Given the description of an element on the screen output the (x, y) to click on. 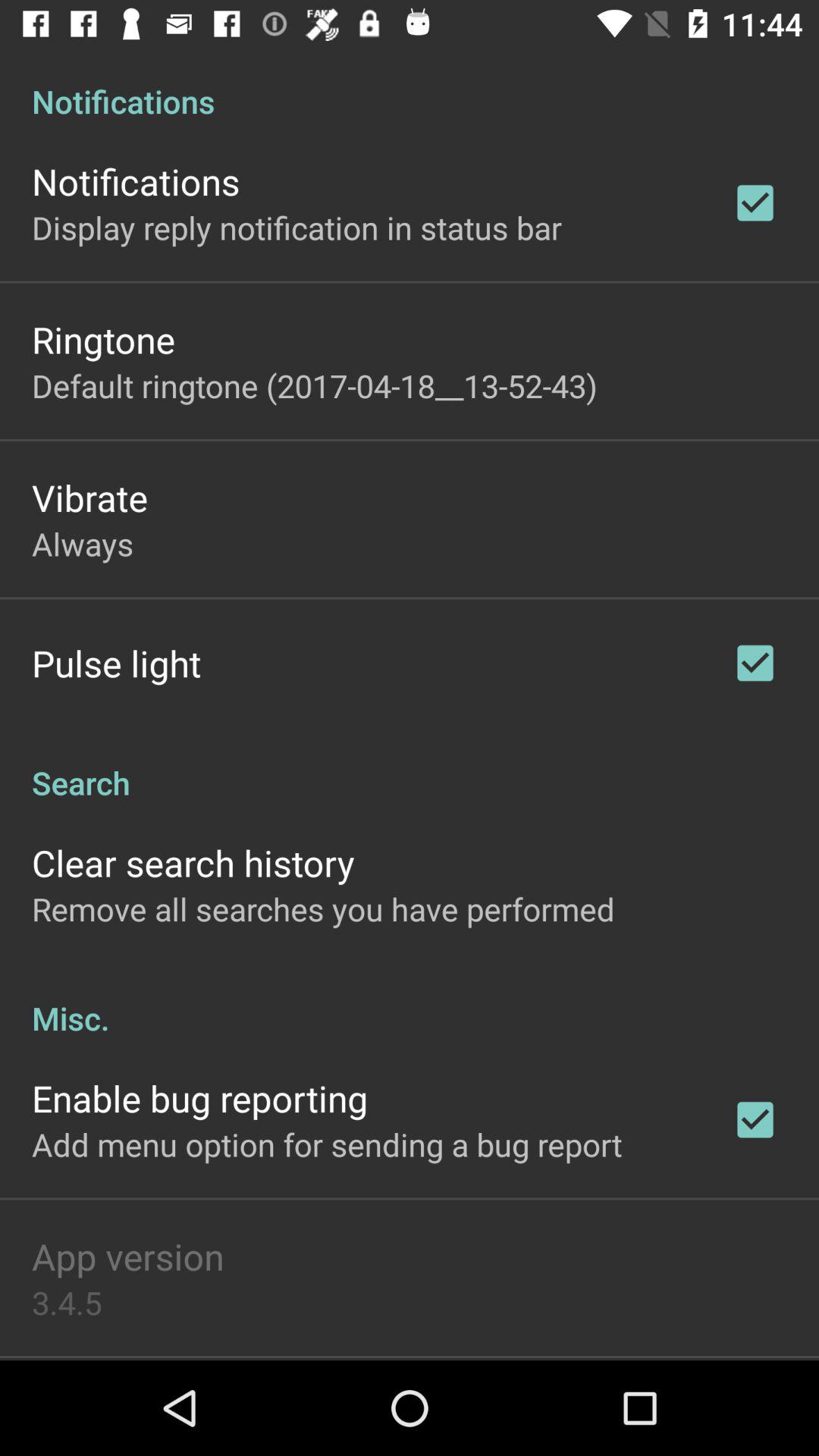
flip to the default ringtone 2017 icon (314, 385)
